Given the description of an element on the screen output the (x, y) to click on. 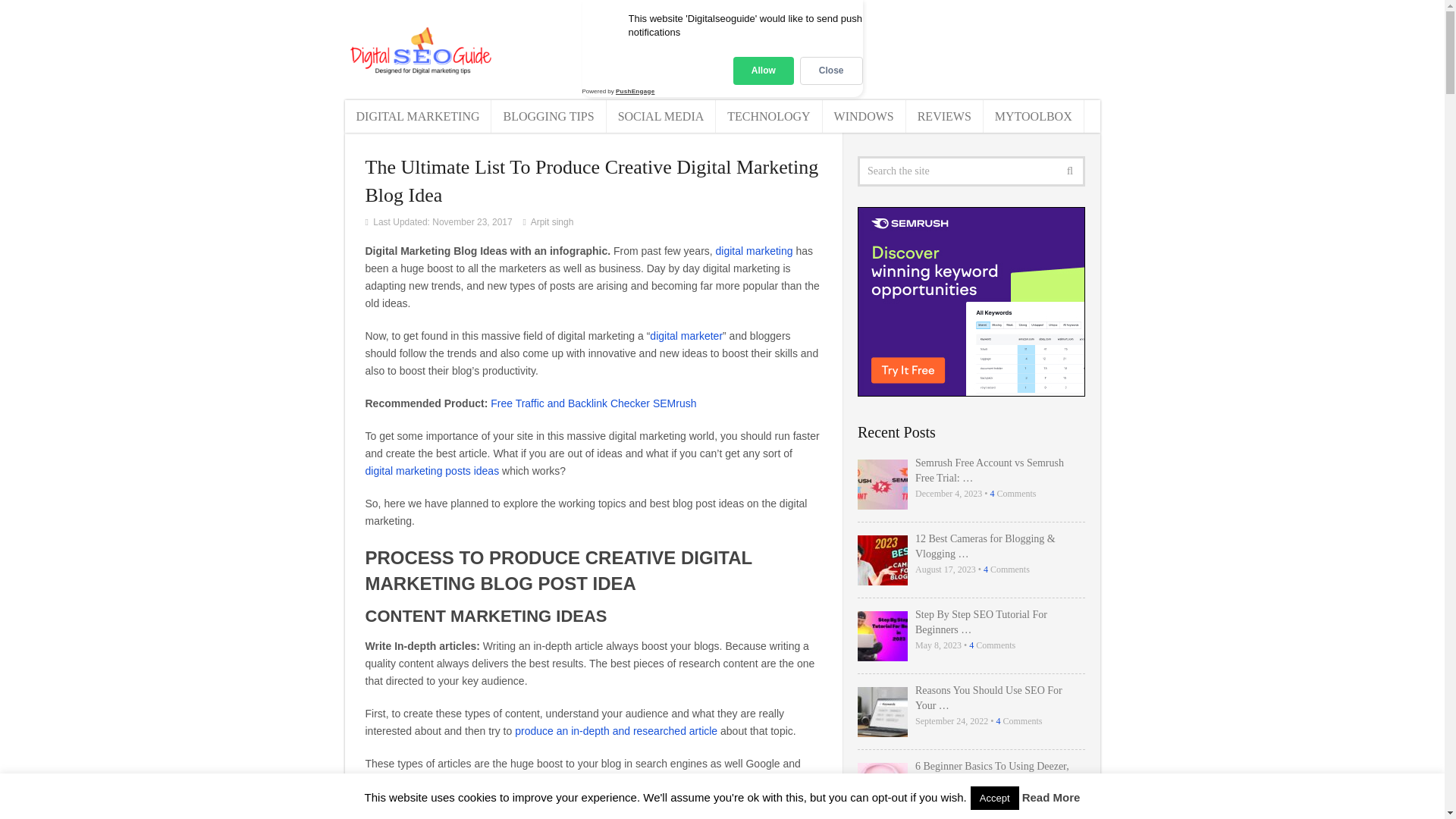
BLOGGING TIPS (548, 115)
DIGITAL MARKETING (417, 115)
REVIEWS (944, 115)
digital marketing posts ideas (432, 470)
Arpit singh (552, 222)
SOCIAL MEDIA (661, 115)
Posts by Arpit singh (552, 222)
TECHNOLOGY (769, 115)
digital marketer (685, 336)
produce an in-depth and researched article (616, 730)
Free Traffic and Backlink Checker SEMrush (592, 403)
Brian Dean (415, 813)
WINDOWS (863, 115)
digital marketing (754, 250)
MYTOOLBOX (1034, 115)
